Given the description of an element on the screen output the (x, y) to click on. 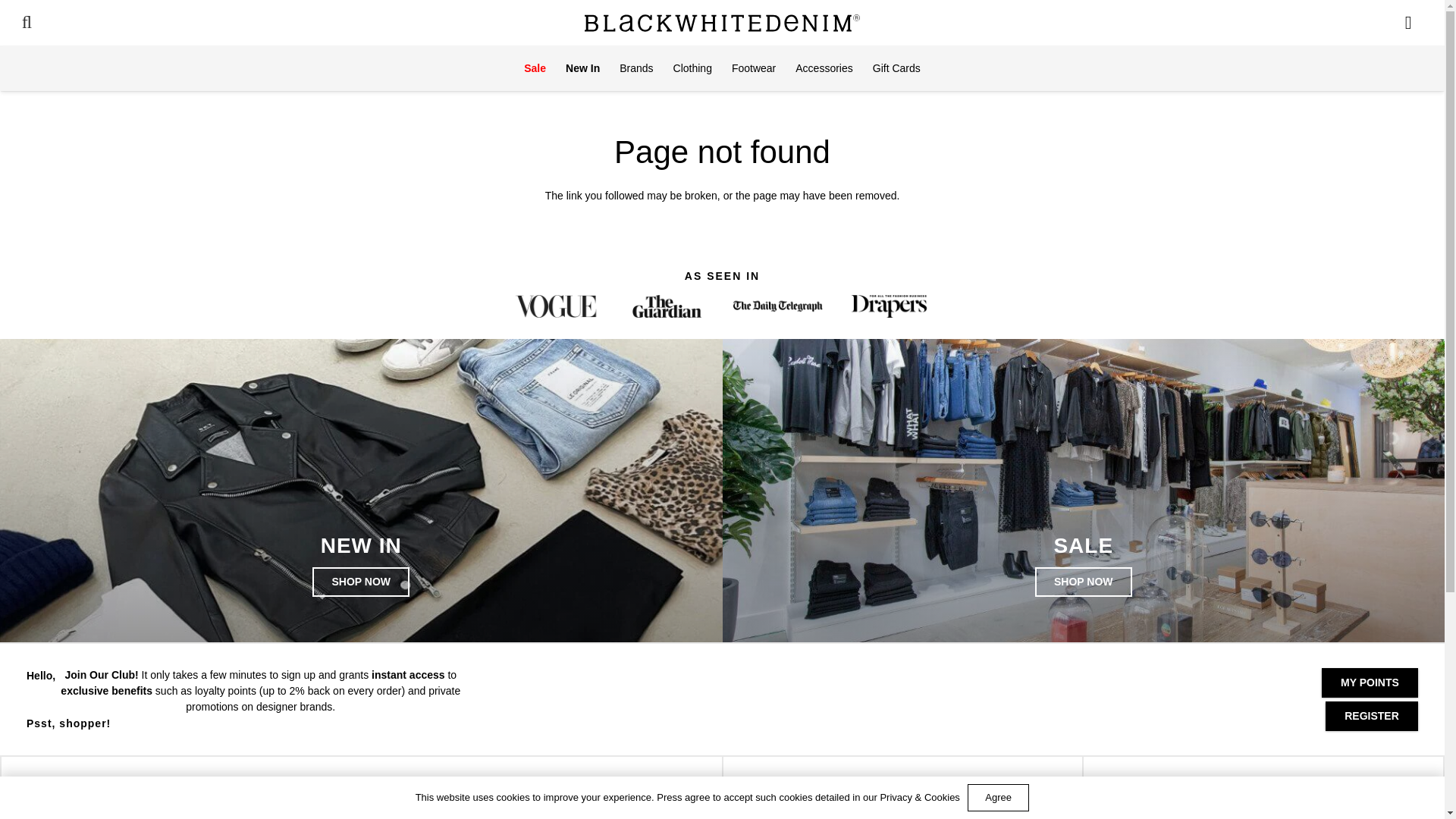
Gift Cards (896, 67)
New In (361, 582)
Login (1253, 49)
Accessories (823, 67)
Brands (636, 67)
Footwear (754, 67)
New In (583, 67)
Sale (534, 67)
Clothing (692, 67)
Sale (1083, 582)
